Given the description of an element on the screen output the (x, y) to click on. 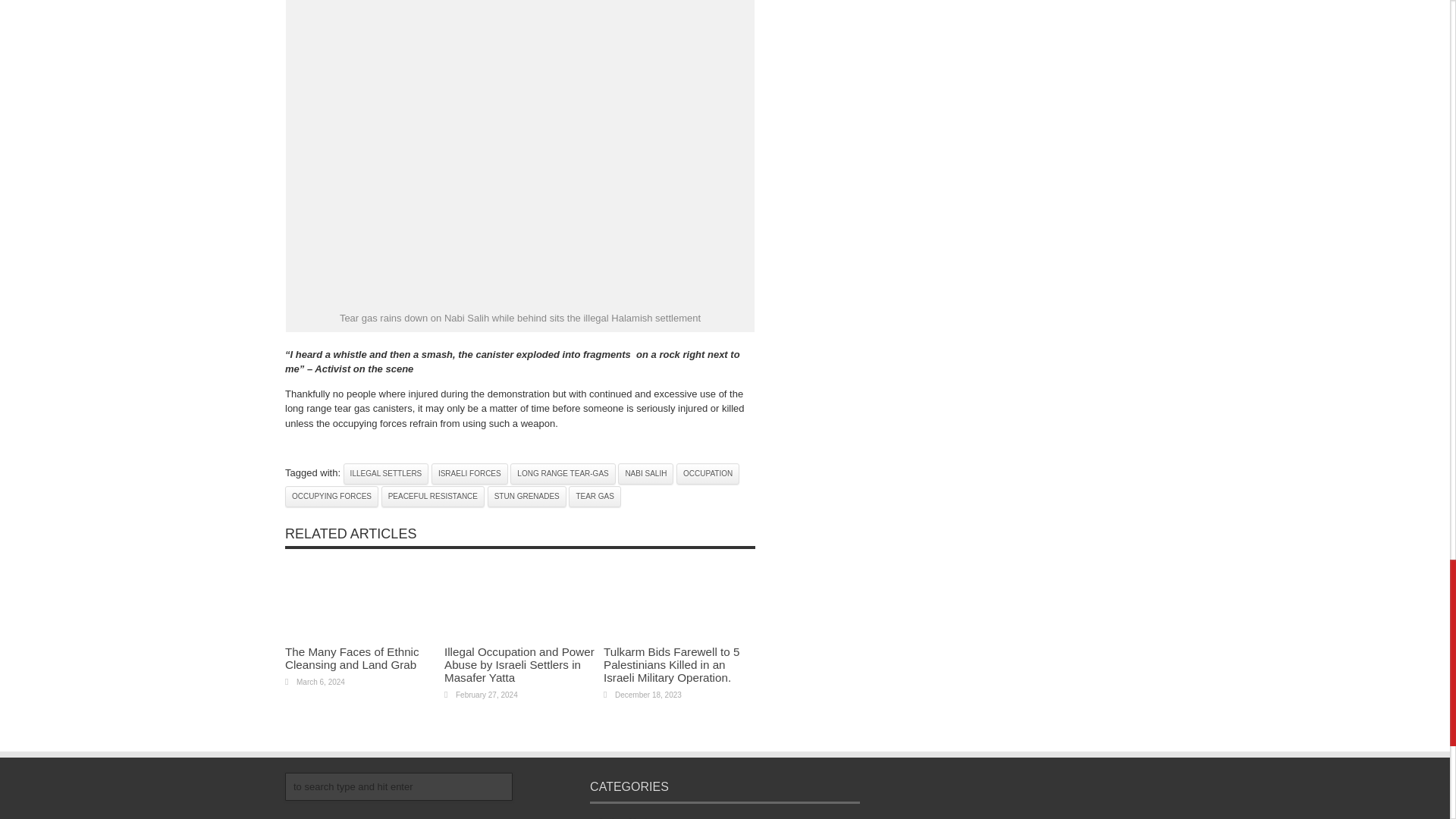
to search type and hit enter (398, 786)
